Given the description of an element on the screen output the (x, y) to click on. 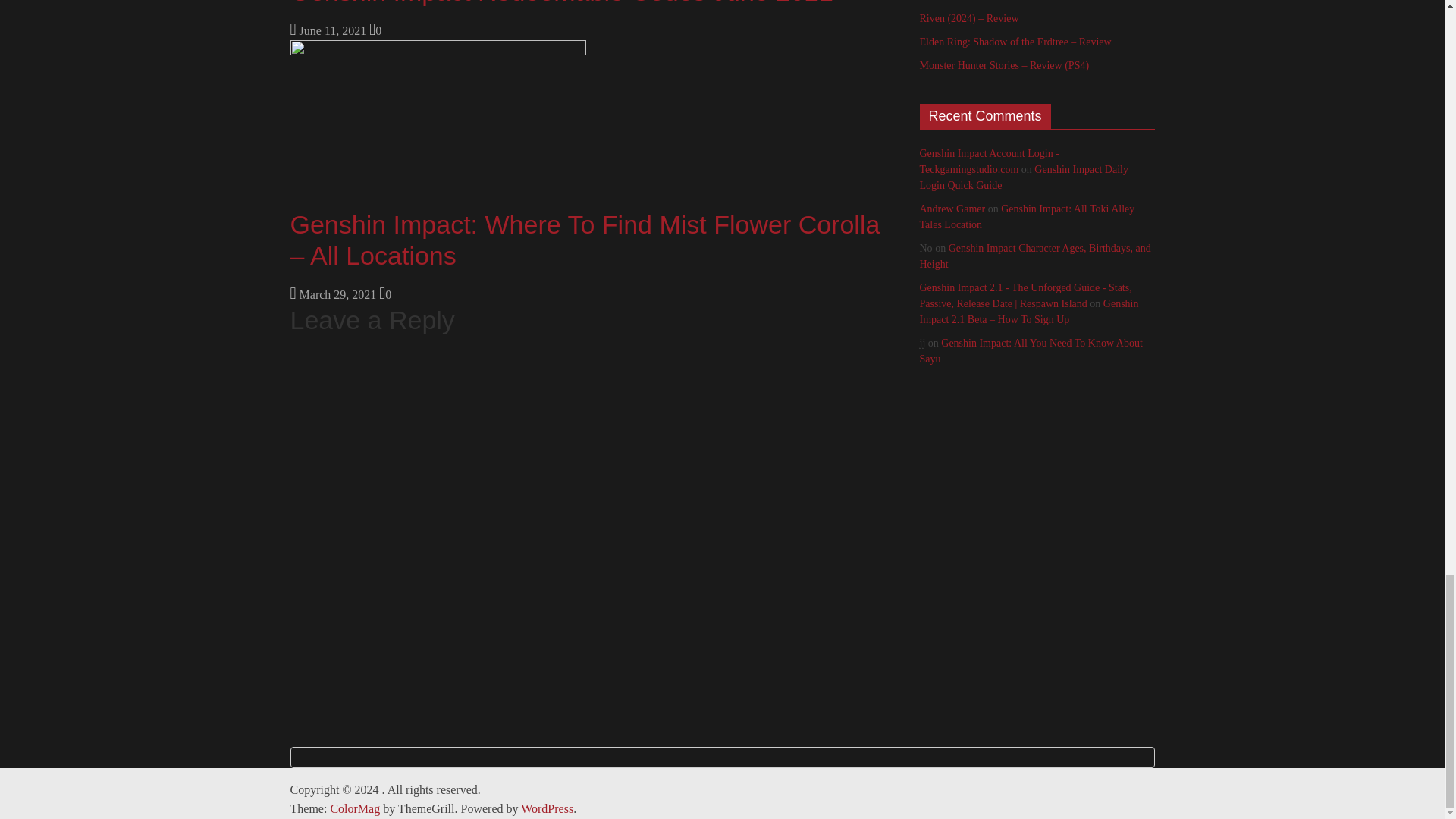
4:37 am (327, 30)
June 11, 2021 (327, 30)
March 29, 2021 (332, 294)
